Given the description of an element on the screen output the (x, y) to click on. 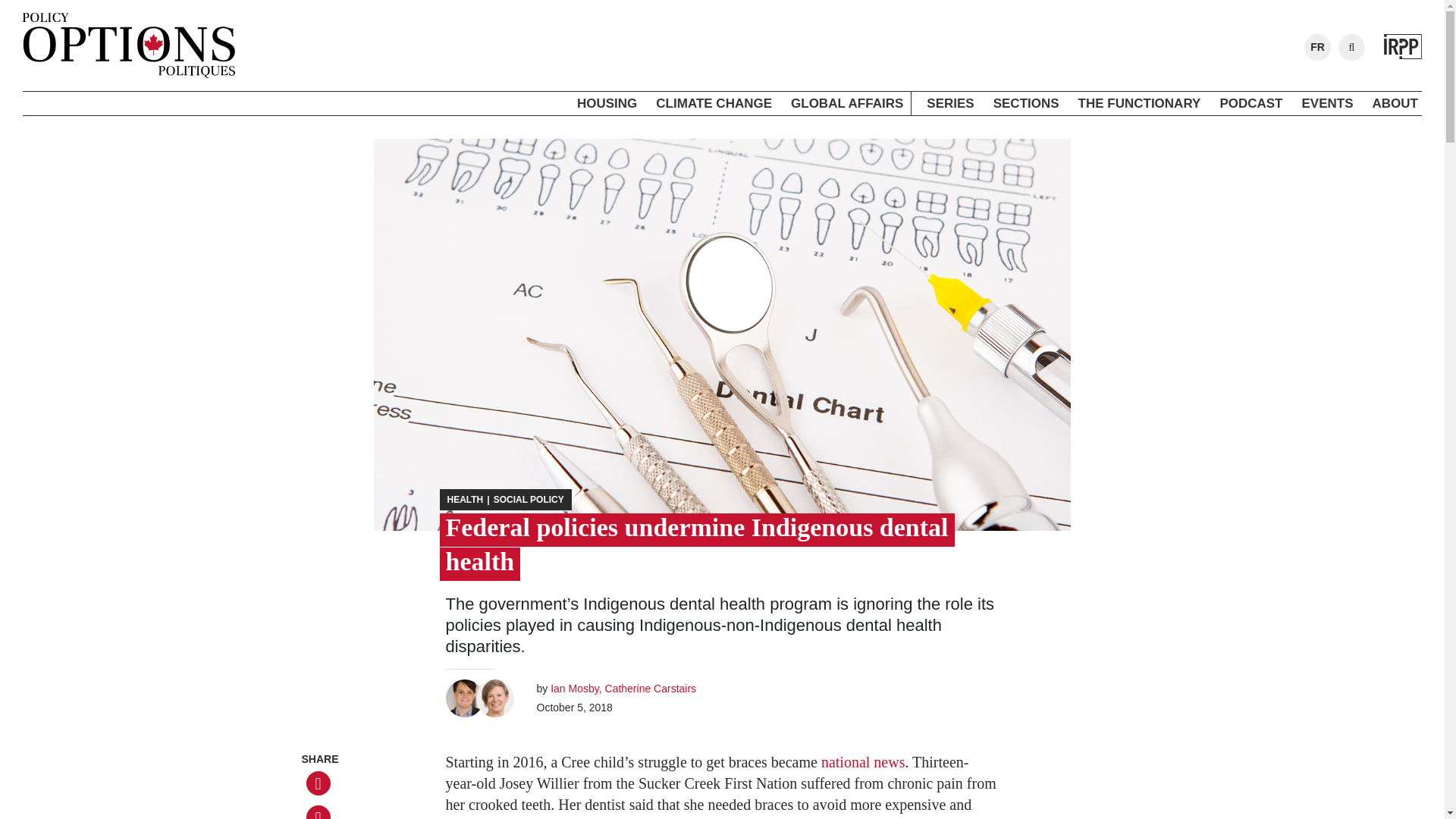
Ian Mosby,  (577, 688)
SERIES (949, 103)
Catherine Carstairs  (652, 688)
SOCIAL POLICY (528, 499)
ABOUT (1395, 103)
SECTIONS (1026, 103)
GLOBAL AFFAIRS (847, 103)
EVENTS (1327, 103)
HOUSING (606, 103)
FR (1317, 47)
national news (863, 761)
PODCAST (1250, 103)
THE FUNCTIONARY (1139, 103)
HEALTH (464, 499)
CLIMATE CHANGE (714, 103)
